Given the description of an element on the screen output the (x, y) to click on. 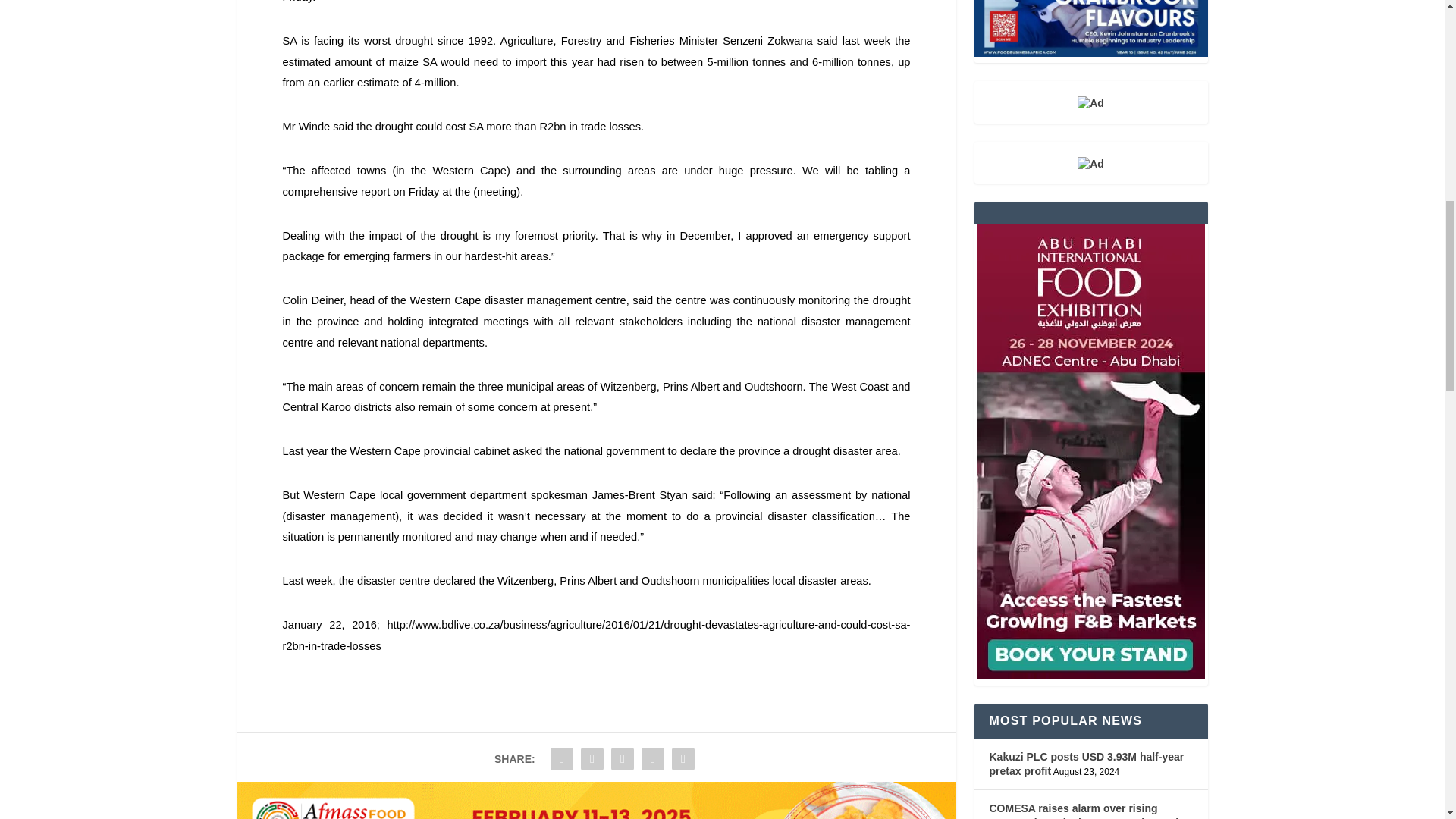
LATEST DIGITAL MAGAZINE (1090, 28)
